Given the description of an element on the screen output the (x, y) to click on. 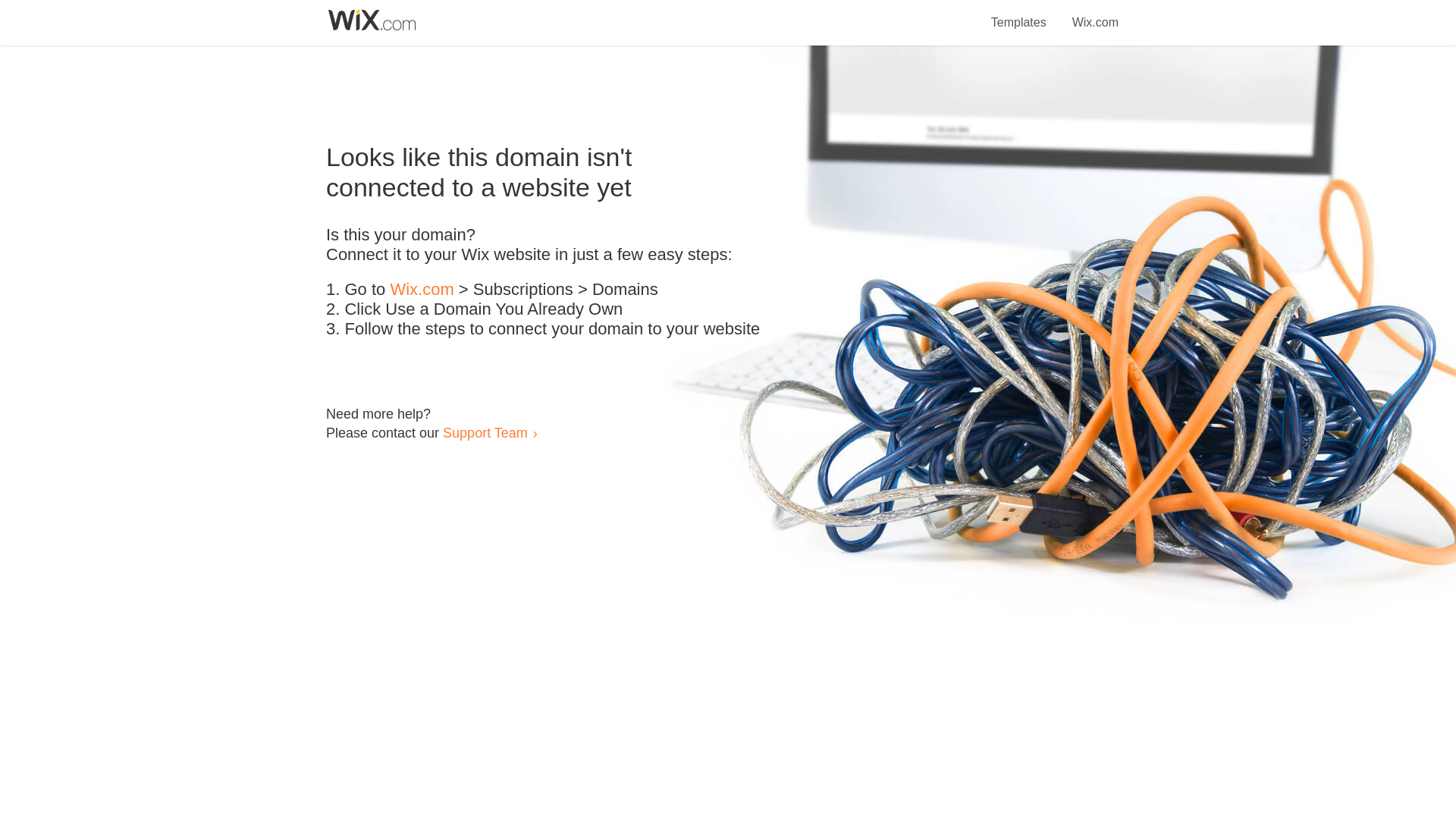
Templates (1018, 14)
Wix.com (1095, 14)
Wix.com (421, 289)
Support Team (484, 432)
